Given the description of an element on the screen output the (x, y) to click on. 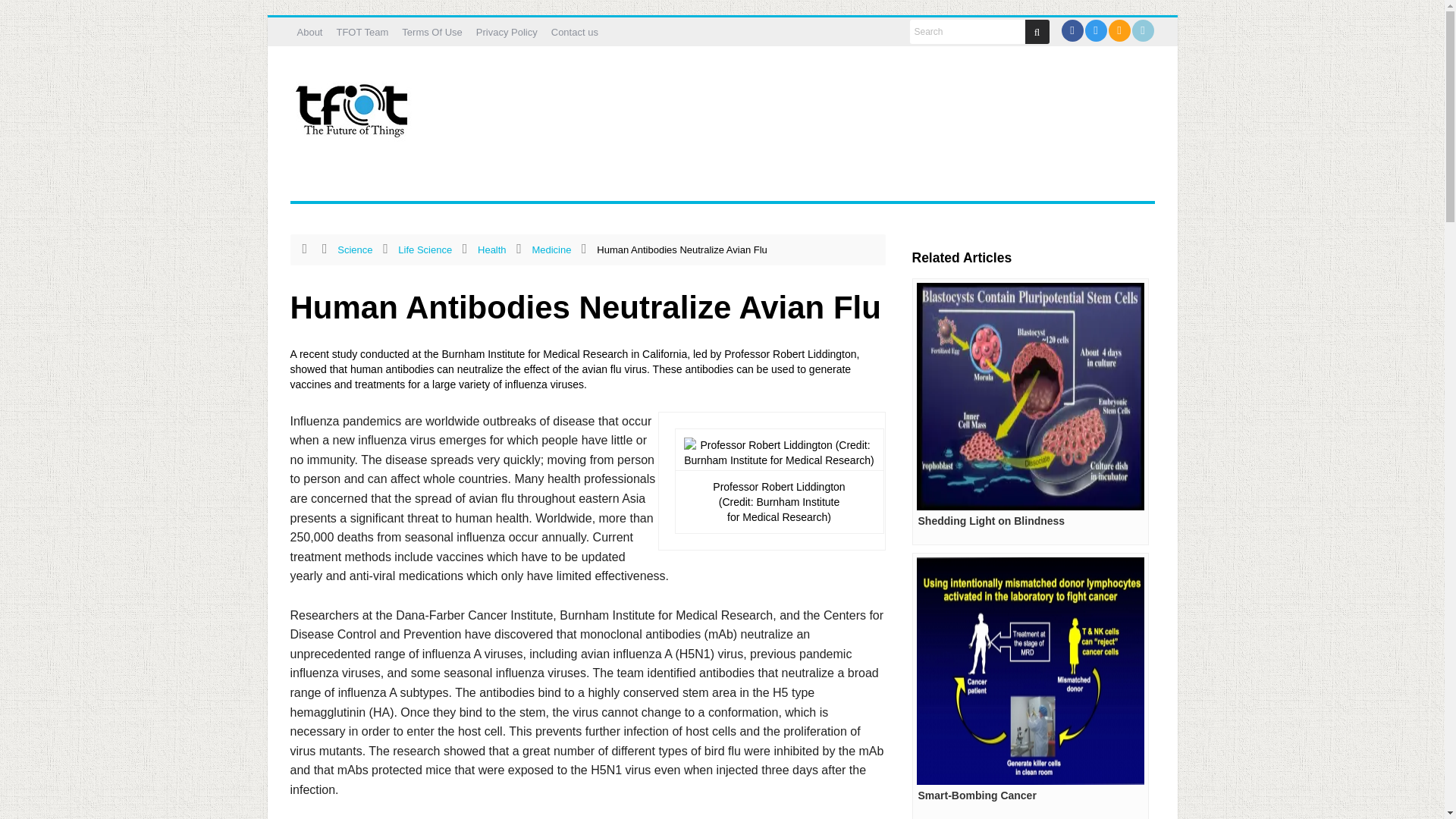
Contact us (574, 32)
Science (508, 182)
TFOT Team (361, 32)
Computers (436, 182)
Privacy Policy (506, 32)
Communications (342, 182)
Contact us (574, 32)
About (309, 32)
Privacy Policy (506, 32)
TFOT Team (361, 32)
Terms Of Use (431, 32)
Rss (1118, 30)
Twitter (1096, 30)
LinkedIn (1142, 30)
TFOT (354, 104)
